Given the description of an element on the screen output the (x, y) to click on. 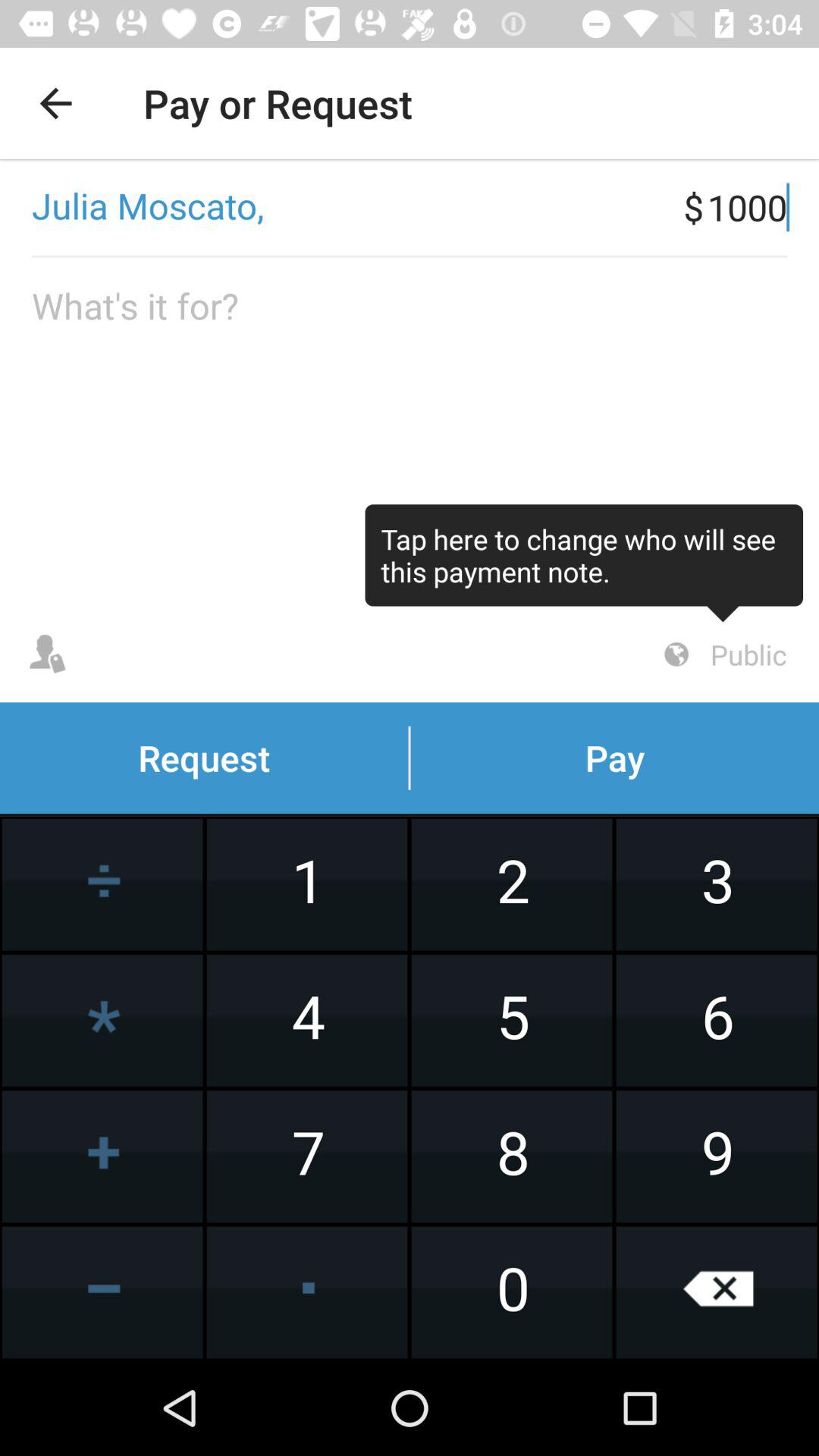
click item to the left of $ item (341, 207)
